Given the description of an element on the screen output the (x, y) to click on. 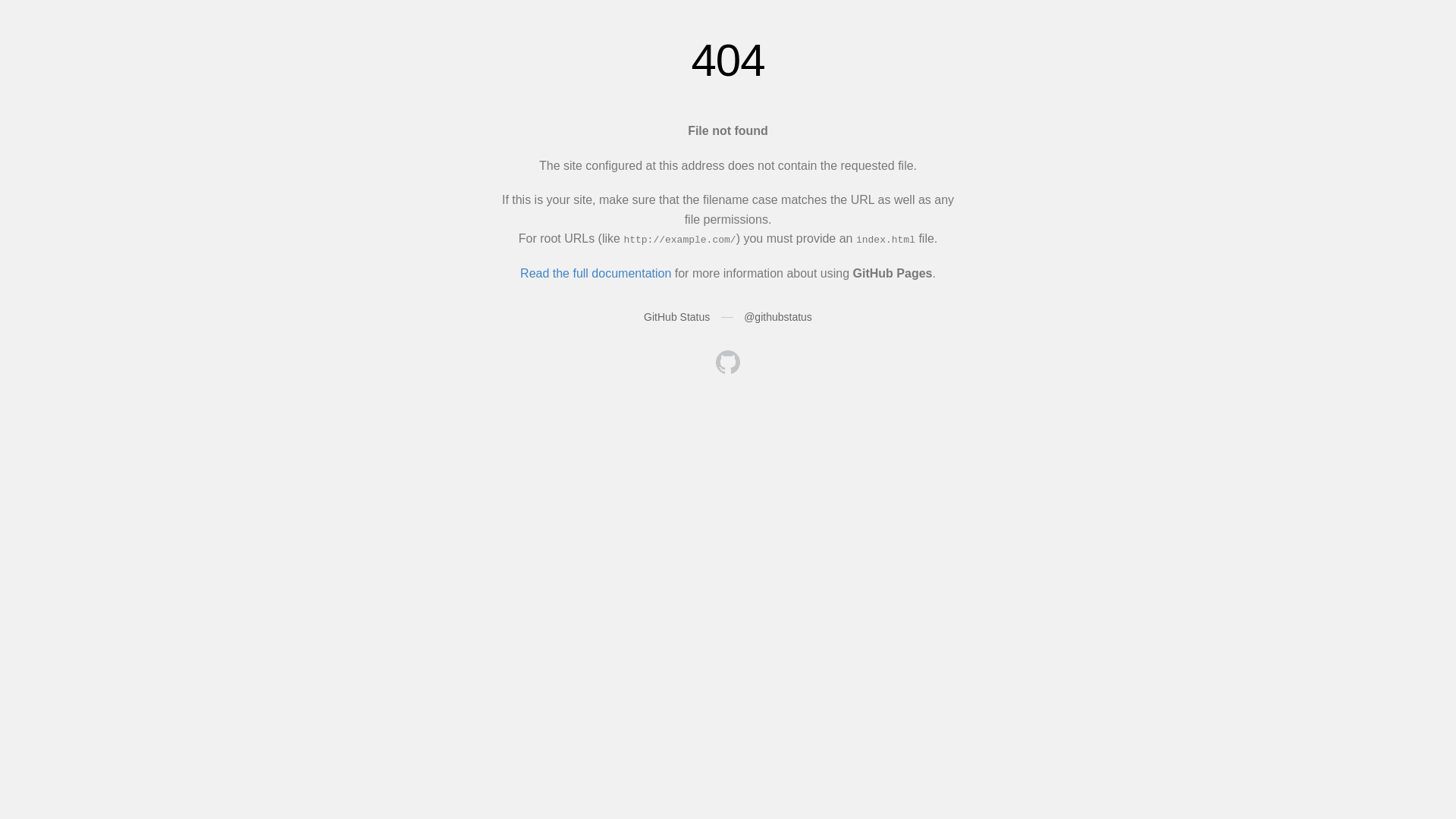
@githubstatus Element type: text (777, 316)
GitHub Status Element type: text (676, 316)
Read the full documentation Element type: text (595, 272)
